Given the description of an element on the screen output the (x, y) to click on. 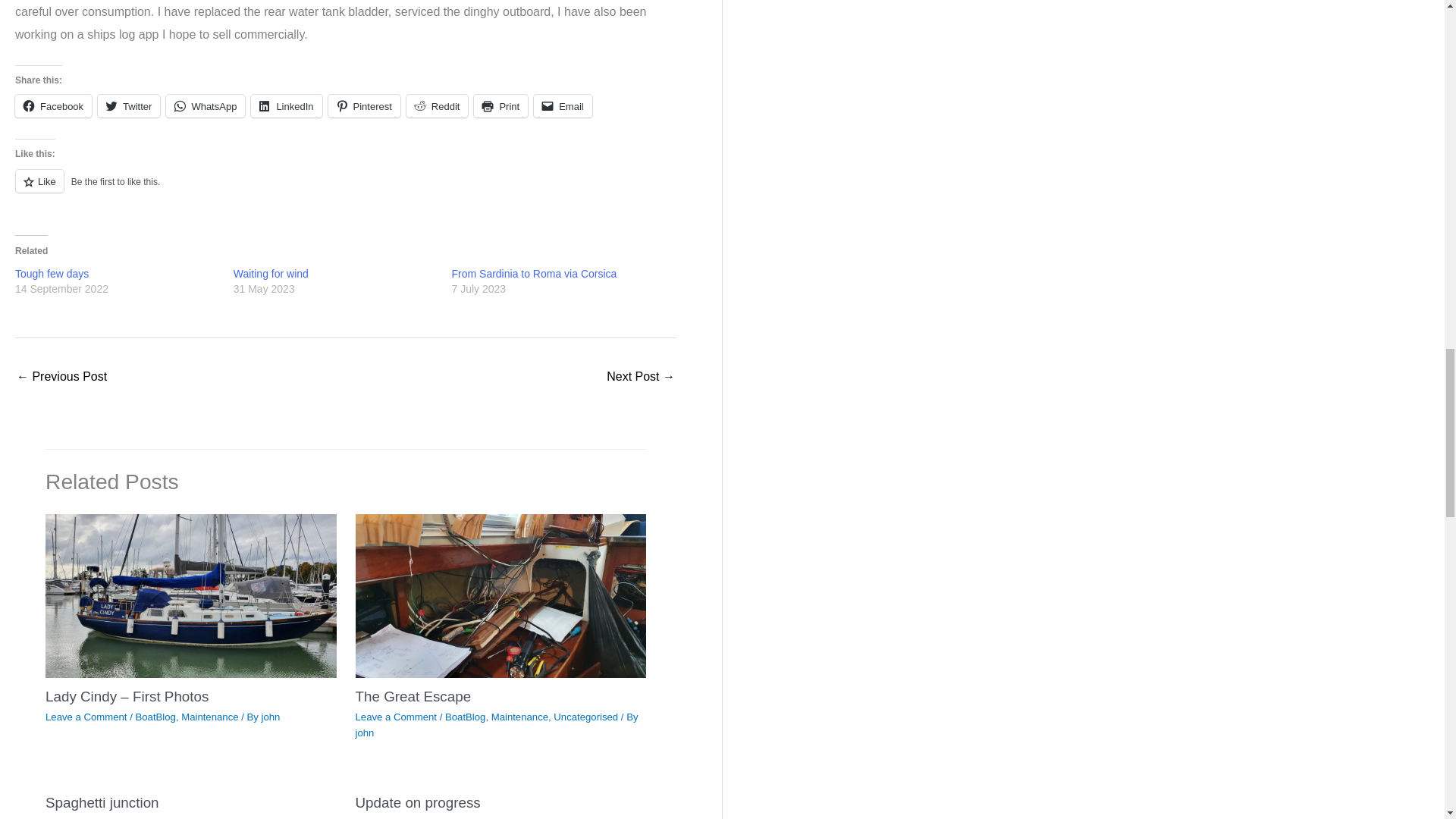
Tough few days (51, 273)
Click to share on Facebook (52, 106)
Click to share on WhatsApp (204, 106)
Waiting for wind (270, 273)
Click to share on Reddit (437, 106)
Click to share on Twitter (128, 106)
Twitter (128, 106)
Click to email a link to a friend (563, 106)
Facebook (52, 106)
Click to share on LinkedIn (285, 106)
Click to share on Pinterest (364, 106)
Click to print (500, 106)
Like or Reblog (345, 189)
